Given the description of an element on the screen output the (x, y) to click on. 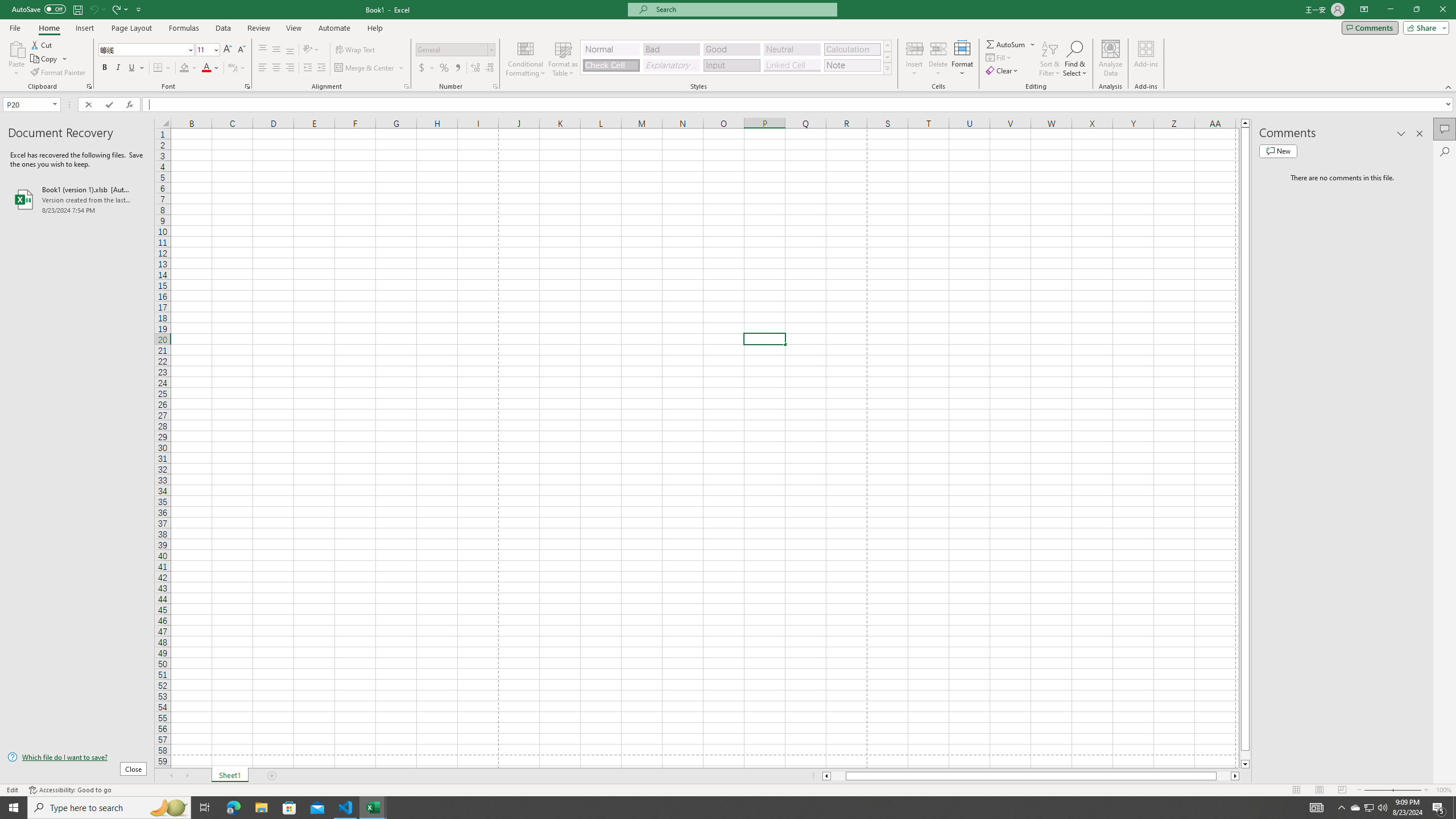
Cut (42, 44)
Fill Color RGB(255, 255, 0) (183, 67)
Format Cell Number (494, 85)
Row up (887, 45)
Data (223, 28)
Comma Style (457, 67)
Scroll Left (171, 775)
AutoSave (38, 9)
Calculation (852, 49)
AutoSum (1011, 44)
Borders (162, 67)
Review (258, 28)
Conditional Formatting (525, 58)
Format as Table (563, 58)
